Given the description of an element on the screen output the (x, y) to click on. 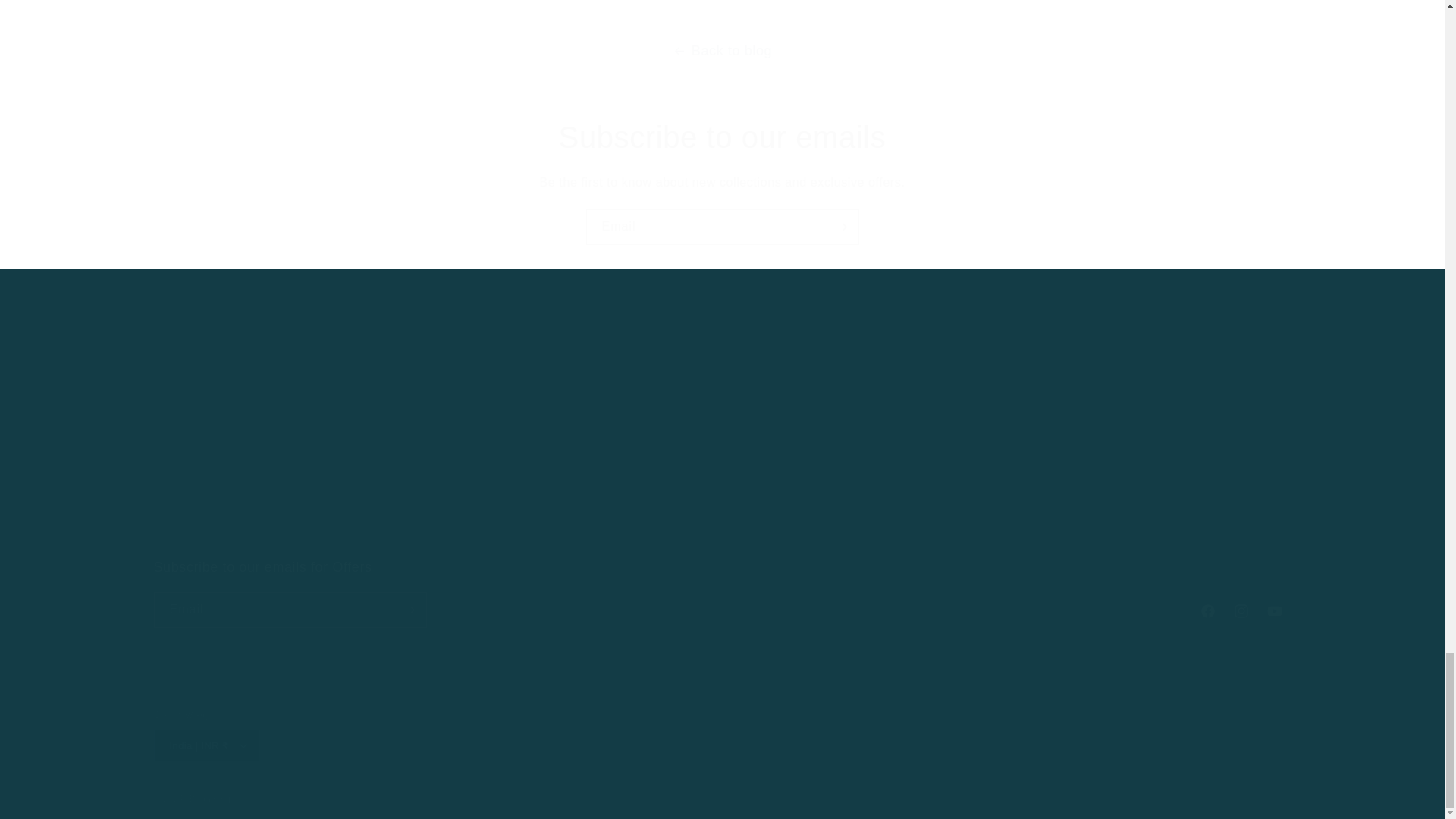
Email (722, 226)
Genuine and Pure Desi Cow A2 Milk: The complete food. (254, 540)
Subscribe to our emails (721, 137)
Bodhi Verified - FAQ (220, 403)
About Us (561, 369)
